Given the description of an element on the screen output the (x, y) to click on. 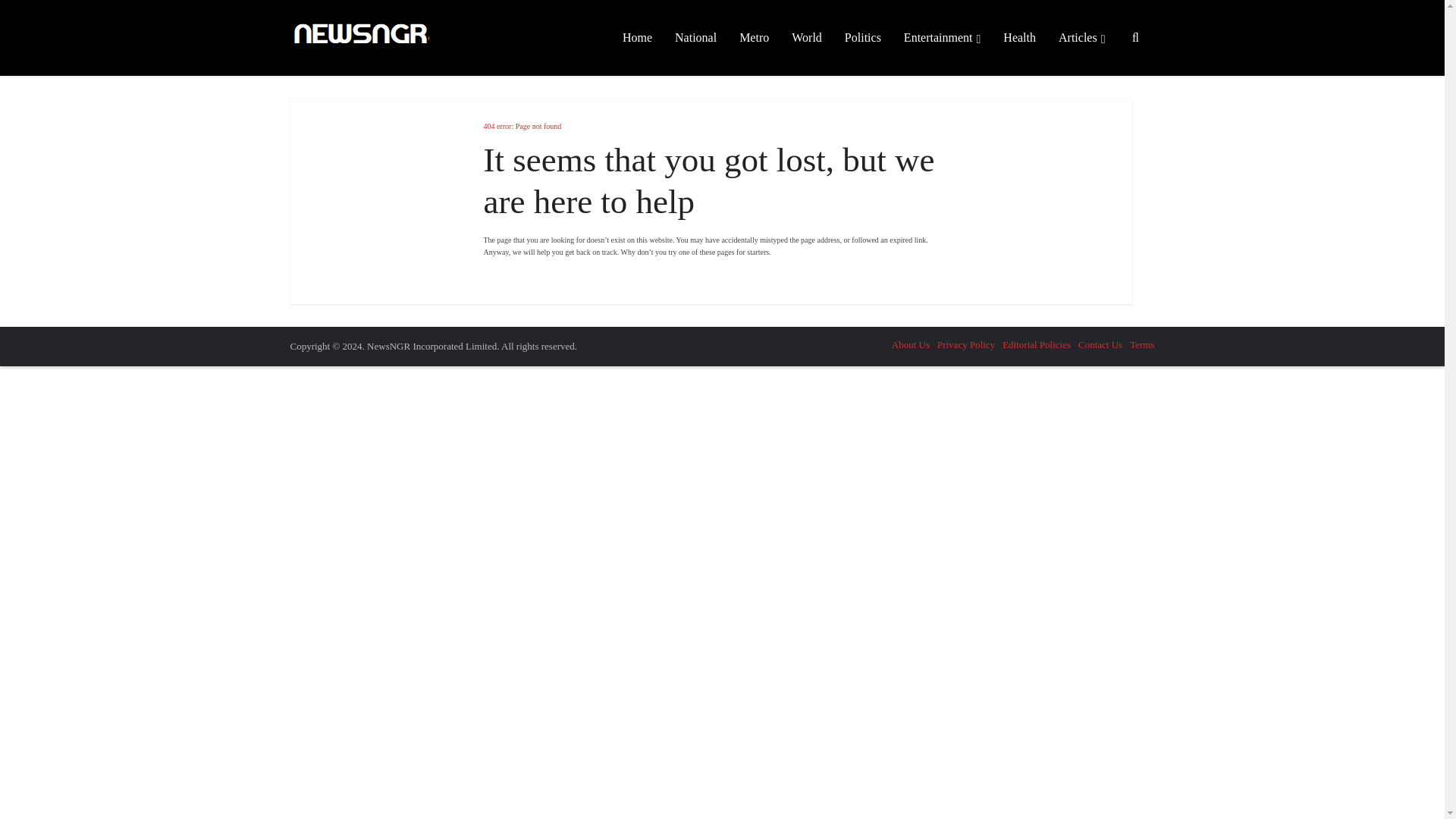
Contact Us (1100, 344)
Editorial Policies (1036, 344)
Privacy Policy (965, 344)
About Us (910, 344)
Articles (1081, 38)
Entertainment (941, 38)
